Given the description of an element on the screen output the (x, y) to click on. 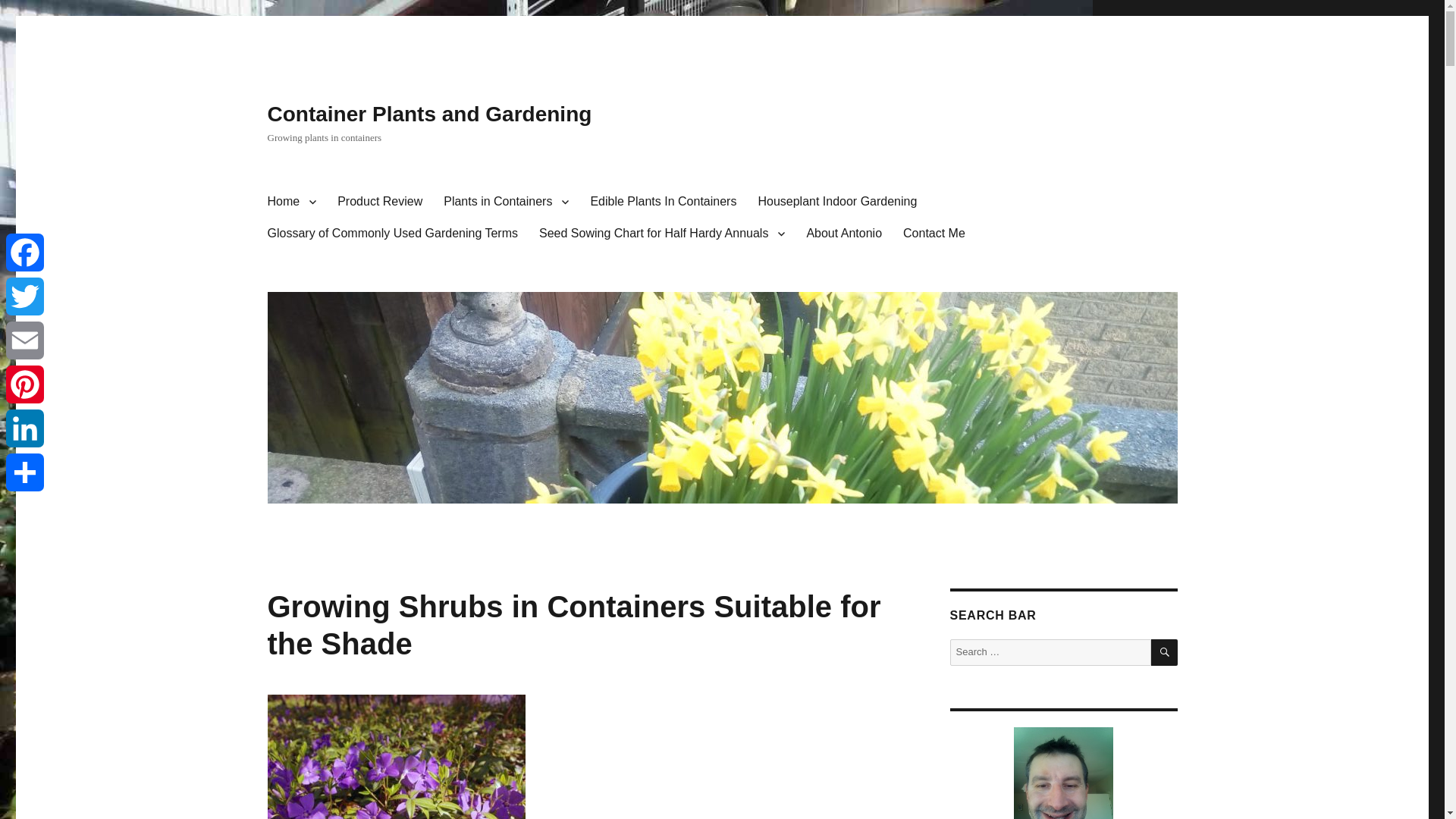
Glossary of Commonly Used Gardening Terms (392, 233)
About Antonio (843, 233)
Plants in Containers (505, 201)
Seed Sowing Chart for Half Hardy Annuals (661, 233)
Product Review (379, 201)
Edible Plants In Containers (662, 201)
Container Plants and Gardening (428, 114)
Contact Me (933, 233)
Home (291, 201)
Houseplant Indoor Gardening (836, 201)
